Given the description of an element on the screen output the (x, y) to click on. 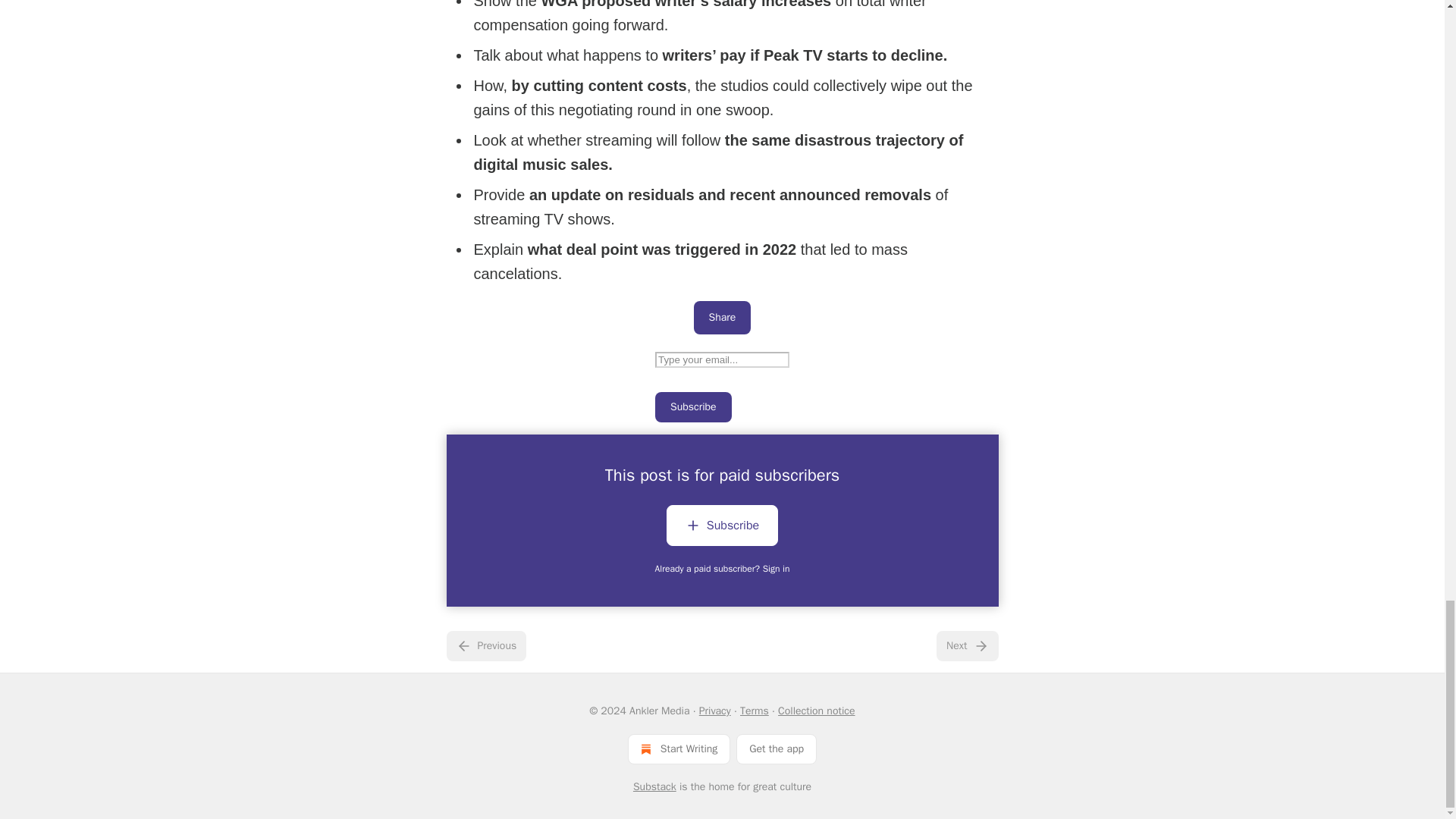
Subscribe (721, 527)
Subscribe (693, 407)
Previous (485, 645)
Already a paid subscriber? Sign in (722, 568)
Subscribe (721, 525)
Share (722, 317)
